Given the description of an element on the screen output the (x, y) to click on. 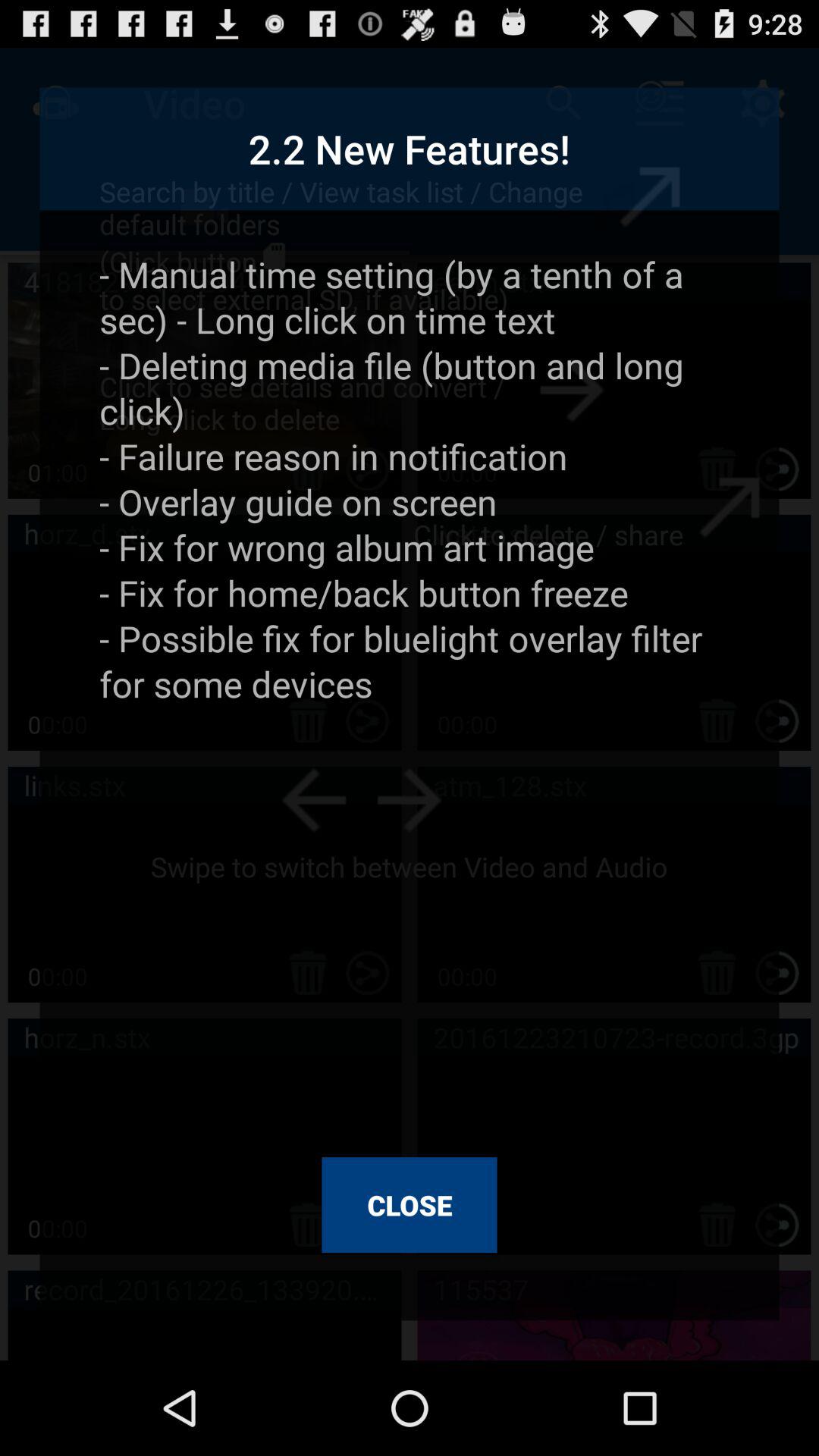
launch item at the center (409, 693)
